Given the description of an element on the screen output the (x, y) to click on. 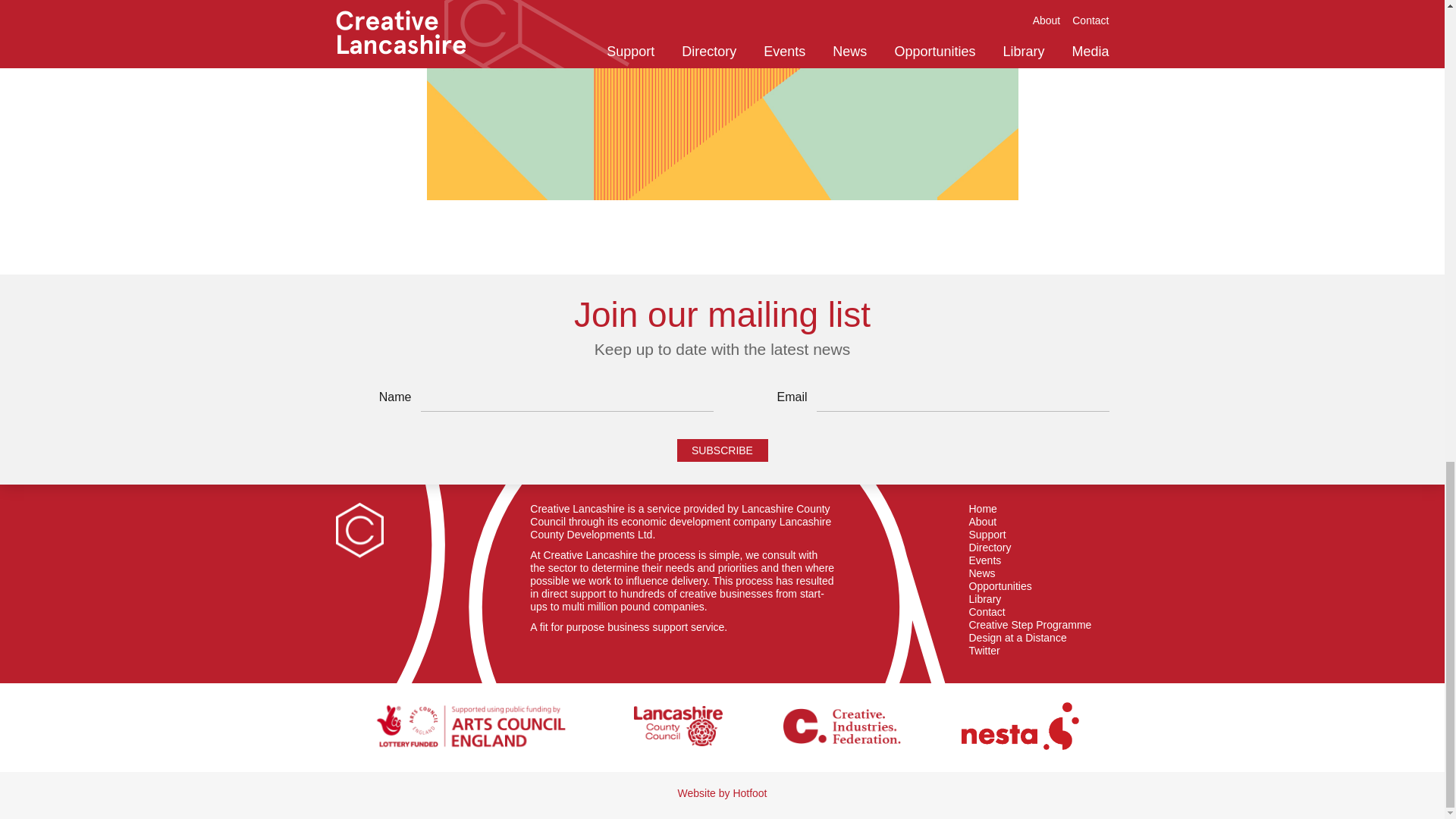
Events (985, 560)
Library (985, 599)
SUBSCRIBE (722, 449)
Home (983, 508)
About (983, 521)
Support (987, 534)
Directory (990, 547)
Contact (987, 612)
News (982, 573)
Opportunities (1000, 585)
